Given the description of an element on the screen output the (x, y) to click on. 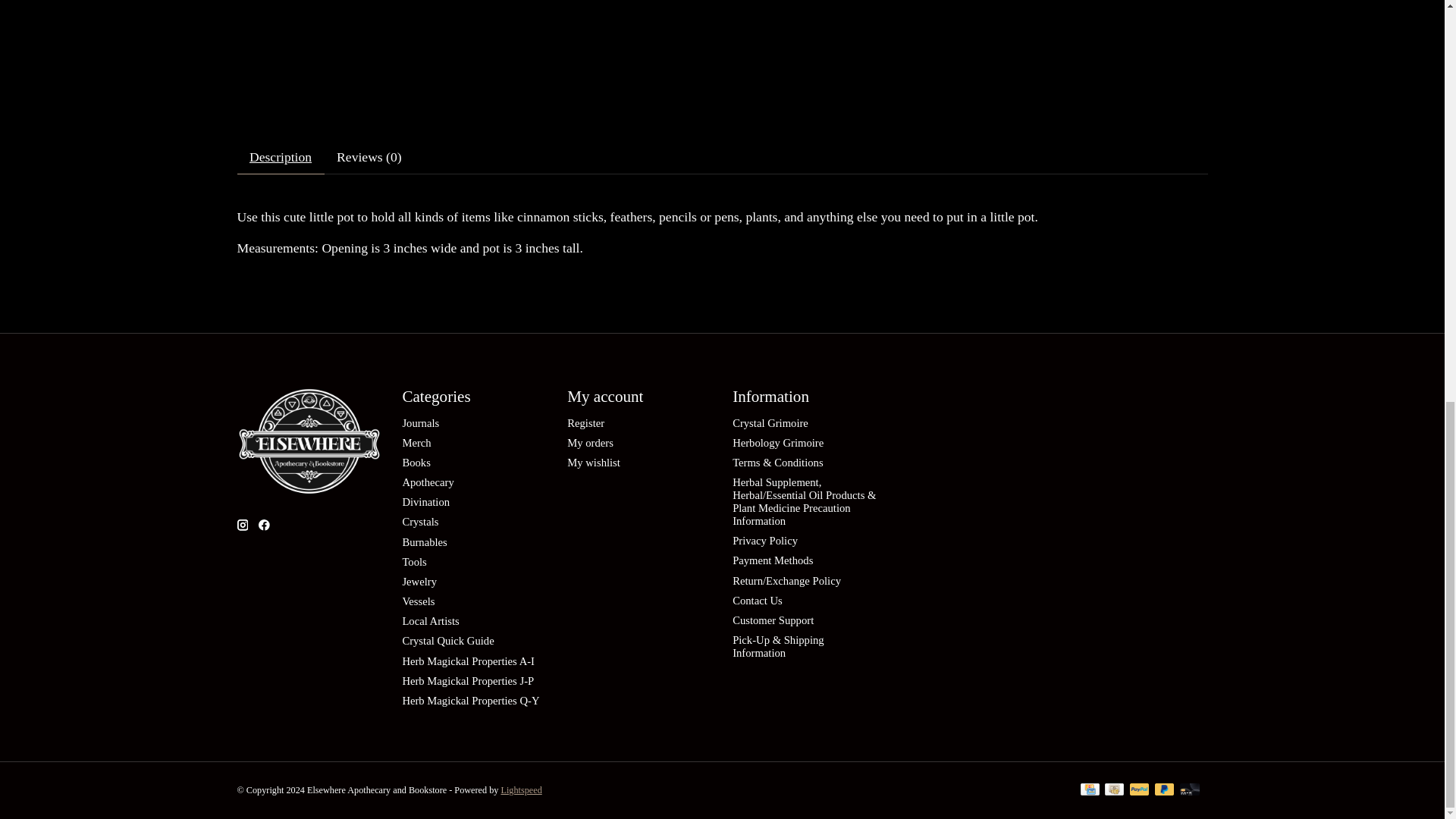
Payment Methods (772, 560)
Herbology Grimoire (778, 442)
Privacy Policy (764, 540)
Crystal Grimoire (770, 422)
My orders (589, 442)
My wishlist (593, 462)
Register (585, 422)
